Given the description of an element on the screen output the (x, y) to click on. 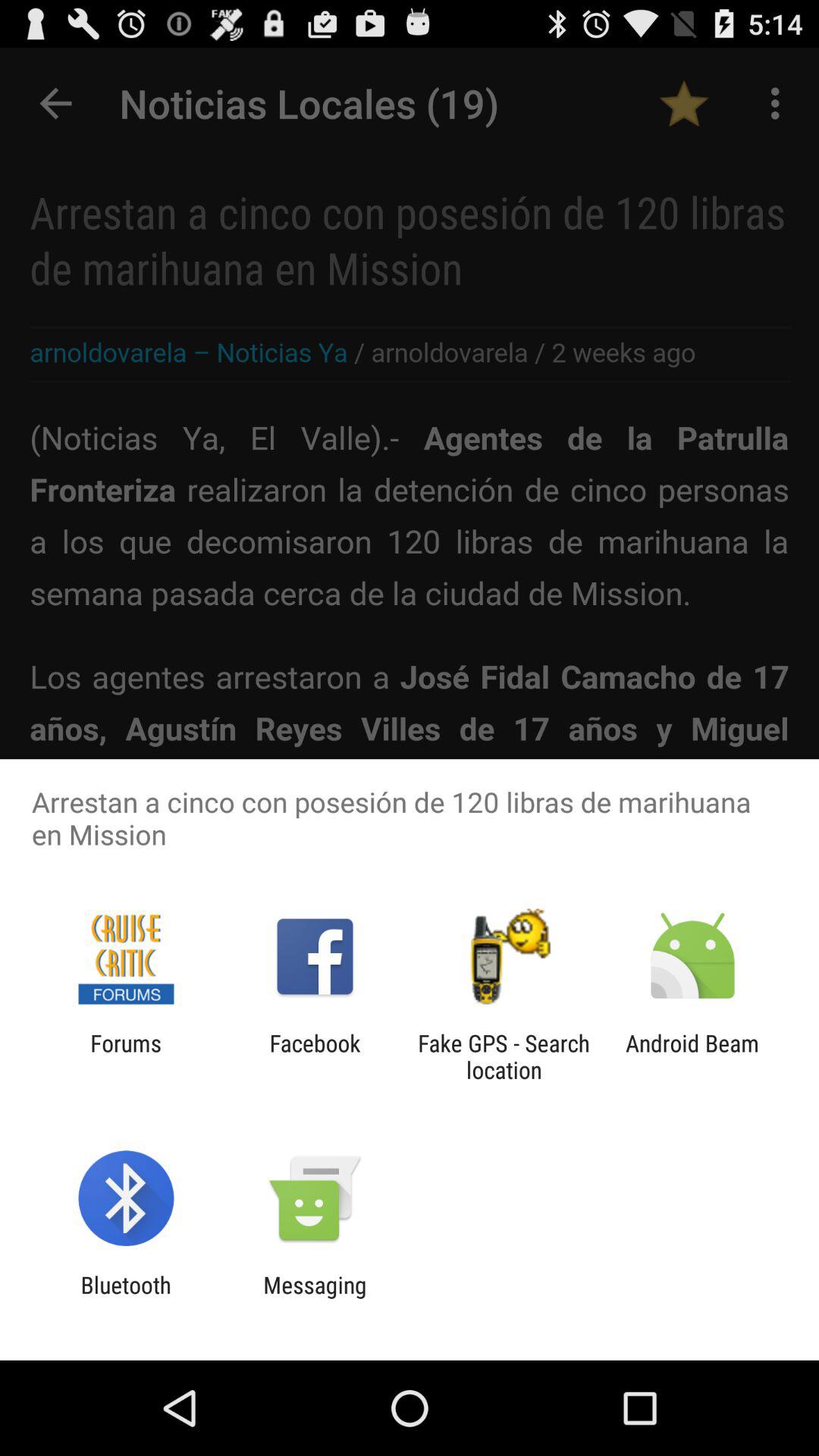
turn off the app next to bluetooth app (314, 1298)
